Given the description of an element on the screen output the (x, y) to click on. 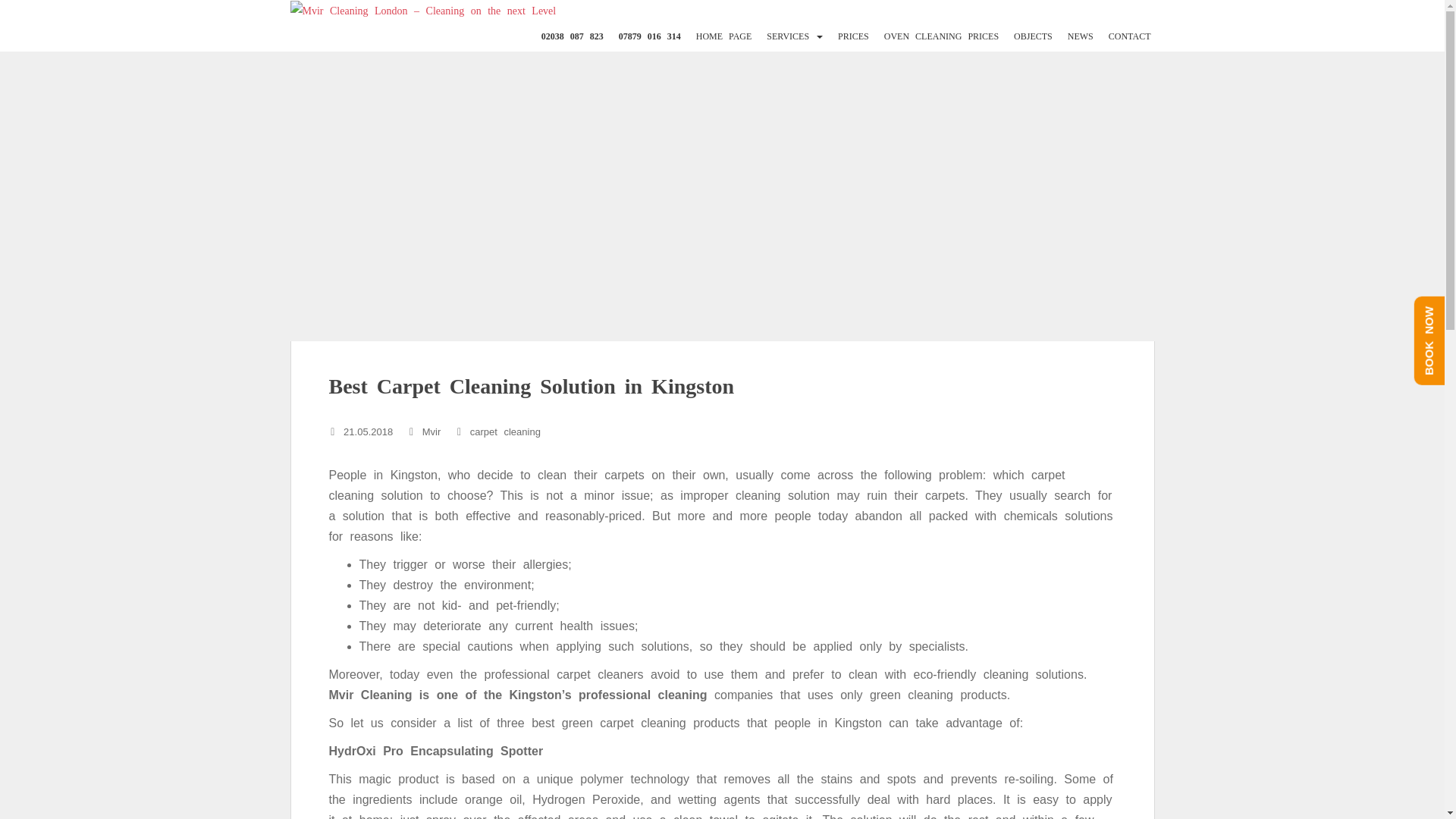
OBJECTS (1032, 36)
OVEN CLEANING PRICES (940, 36)
21.05.2018 (368, 431)
HOME PAGE (723, 36)
PRICES (853, 36)
CONTACT (1129, 36)
Call us at 07879 016 314  (649, 36)
02038 087 823 (572, 36)
carpet cleaning (505, 431)
07879 016 314 (649, 36)
